Given the description of an element on the screen output the (x, y) to click on. 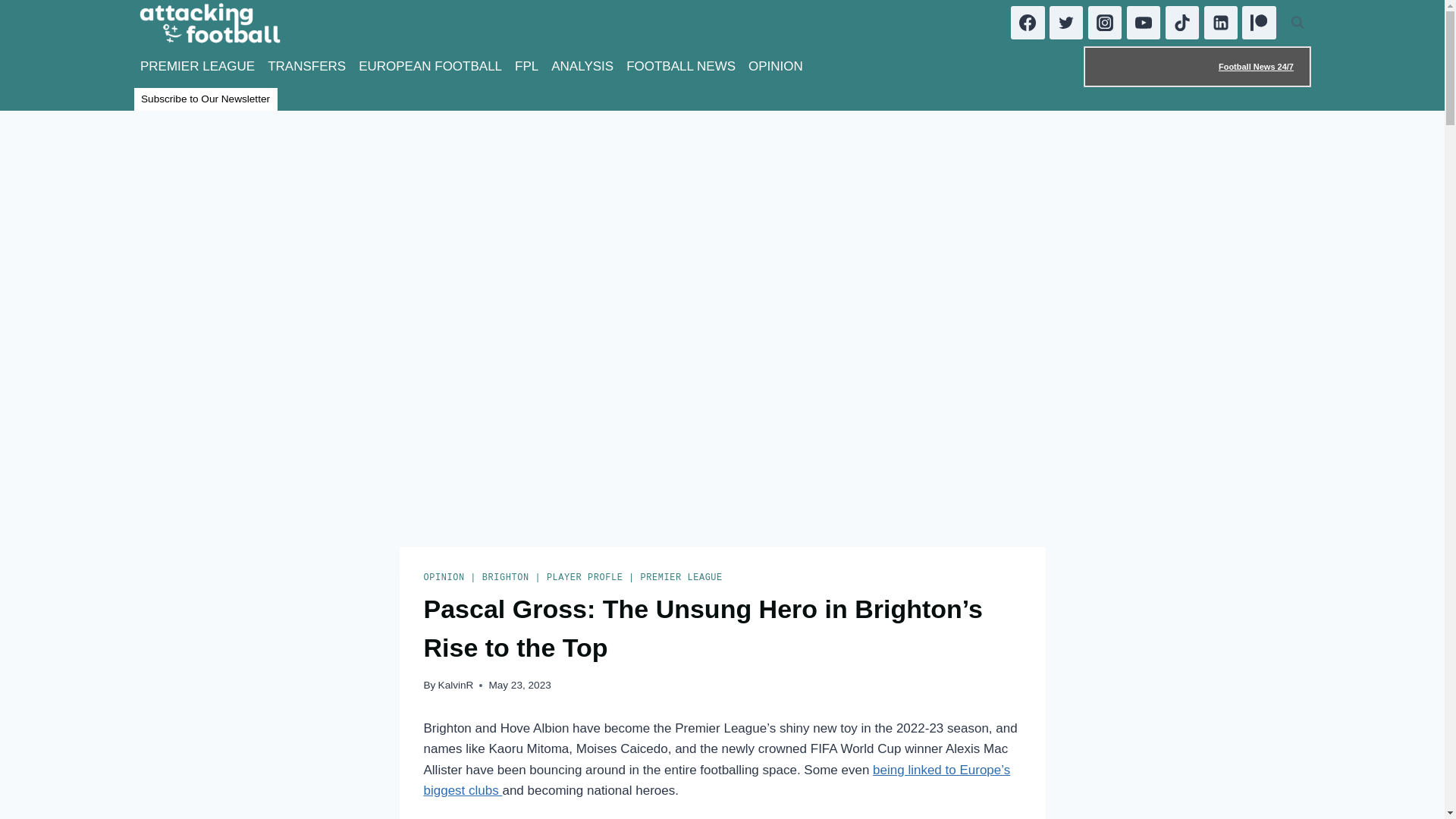
ANALYSIS (582, 66)
KalvinR (456, 685)
FOOTBALL NEWS (681, 66)
Subscribe to Our Newsletter (204, 98)
PREMIER LEAGUE (681, 577)
TRANSFERS (307, 66)
Click here for more Football news from NewsNow (1196, 65)
OPINION (443, 577)
BRIGHTON (505, 577)
PREMIER LEAGUE (196, 66)
